Given the description of an element on the screen output the (x, y) to click on. 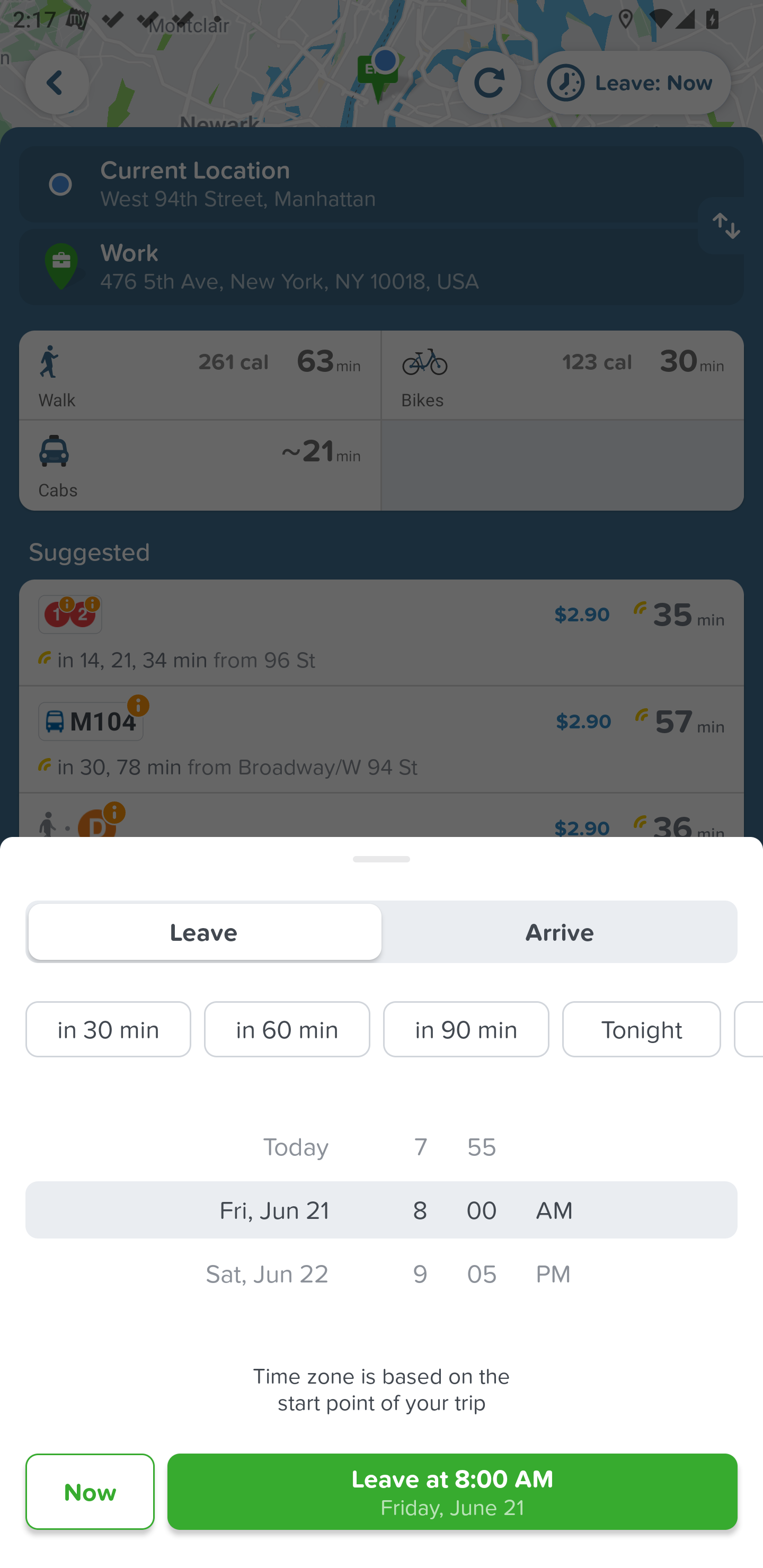
Leave at 8:00 AM Friday, June 21 (452, 1491)
